Given the description of an element on the screen output the (x, y) to click on. 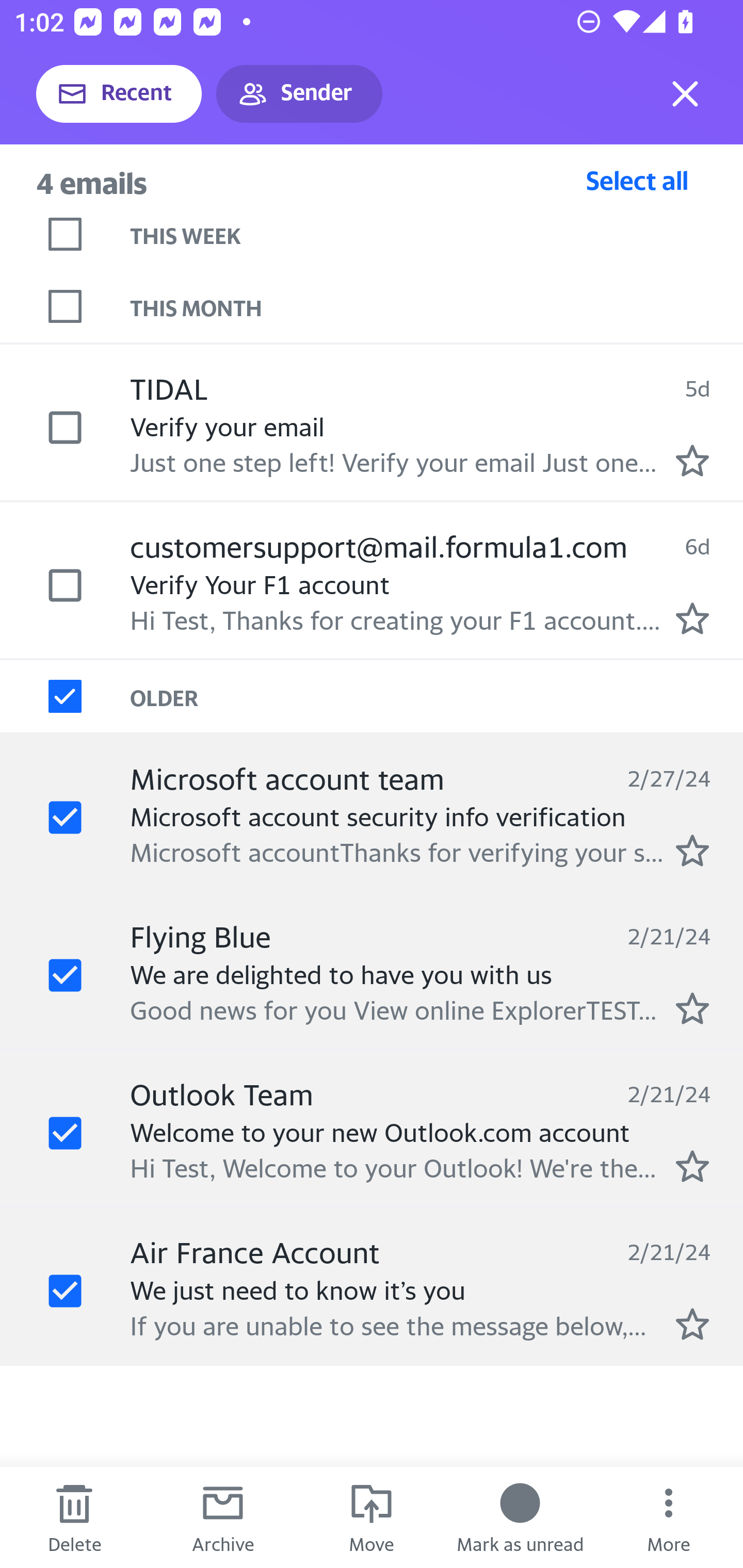
Sender (299, 93)
Exit selection mode (684, 93)
Select all (637, 180)
THIS MONTH (436, 306)
Mark as starred. (692, 460)
Mark as starred. (692, 618)
OLDER (436, 696)
Mark as starred. (692, 850)
Mark as starred. (692, 1008)
Mark as starred. (692, 1165)
Mark as starred. (692, 1324)
Delete (74, 1517)
Archive (222, 1517)
Move (371, 1517)
Mark as unread (519, 1517)
More (668, 1517)
